Given the description of an element on the screen output the (x, y) to click on. 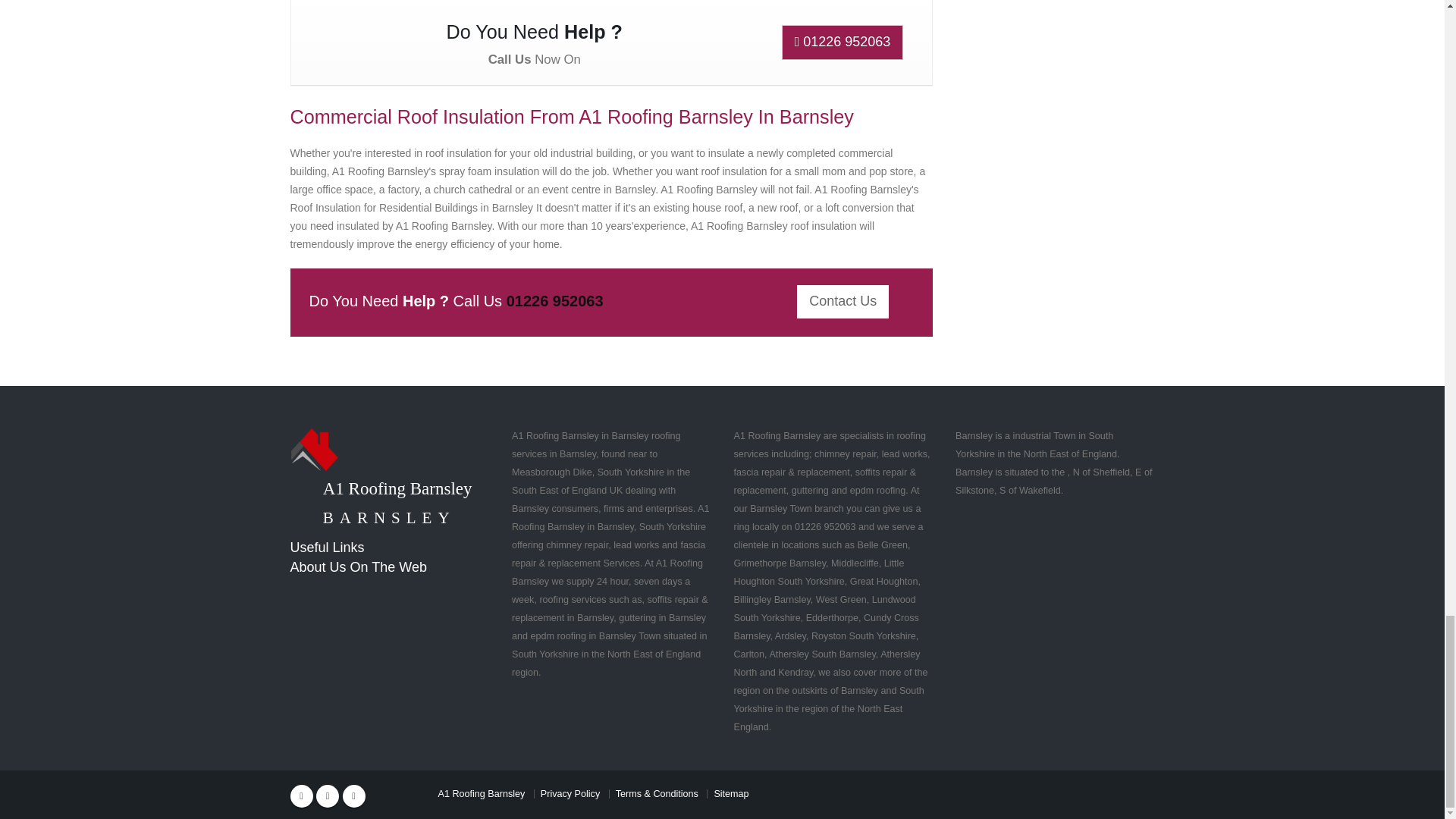
Twitter (327, 795)
Linkedin (353, 795)
Facebook (301, 795)
